Given the description of an element on the screen output the (x, y) to click on. 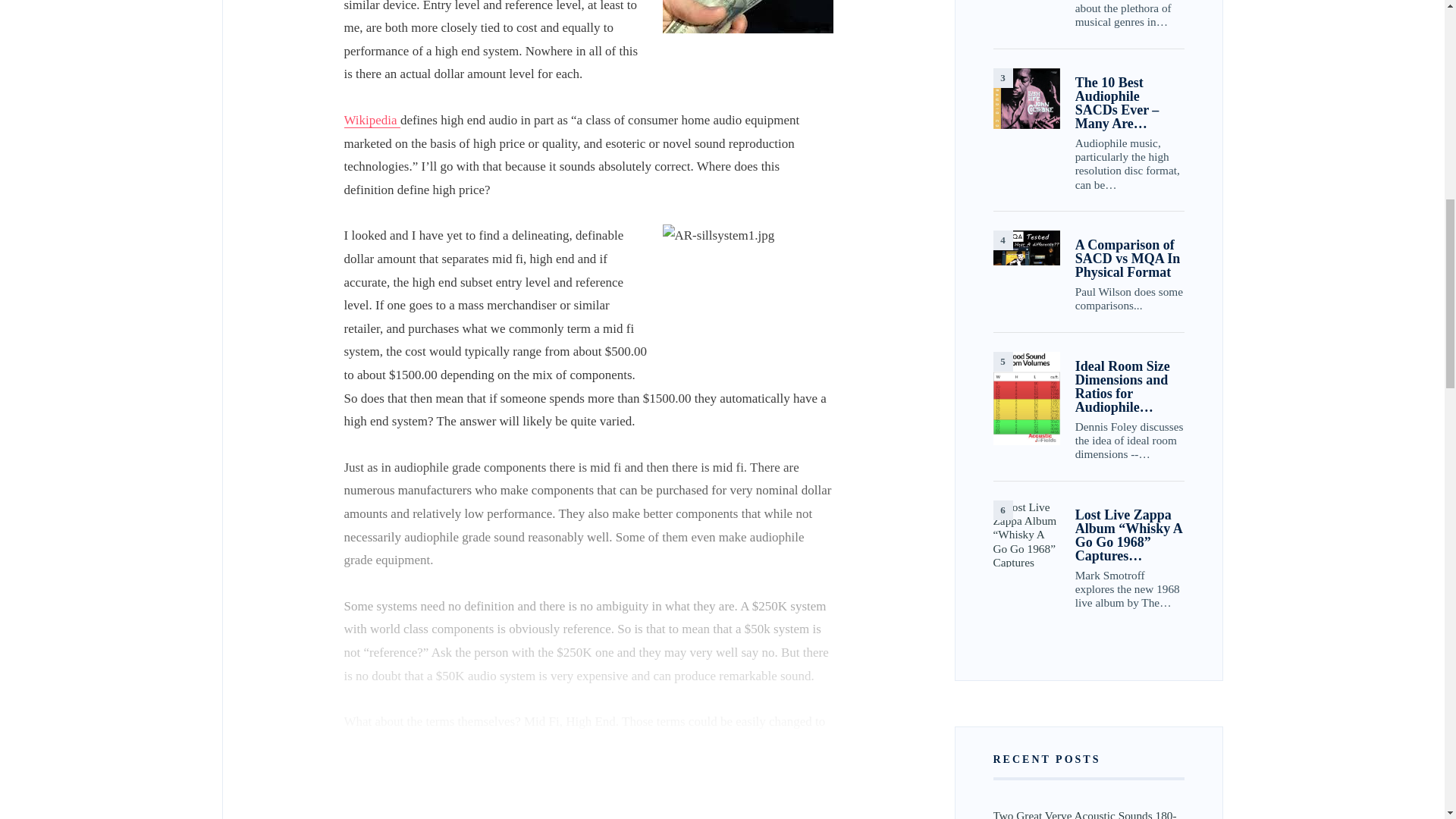
Wikipedia (371, 120)
The 10 Best Audiophile SACDs Ever - Many Are Out Of Print (1025, 98)
A Comparison of SACD vs MQA In Physical Format (1025, 247)
